Given the description of an element on the screen output the (x, y) to click on. 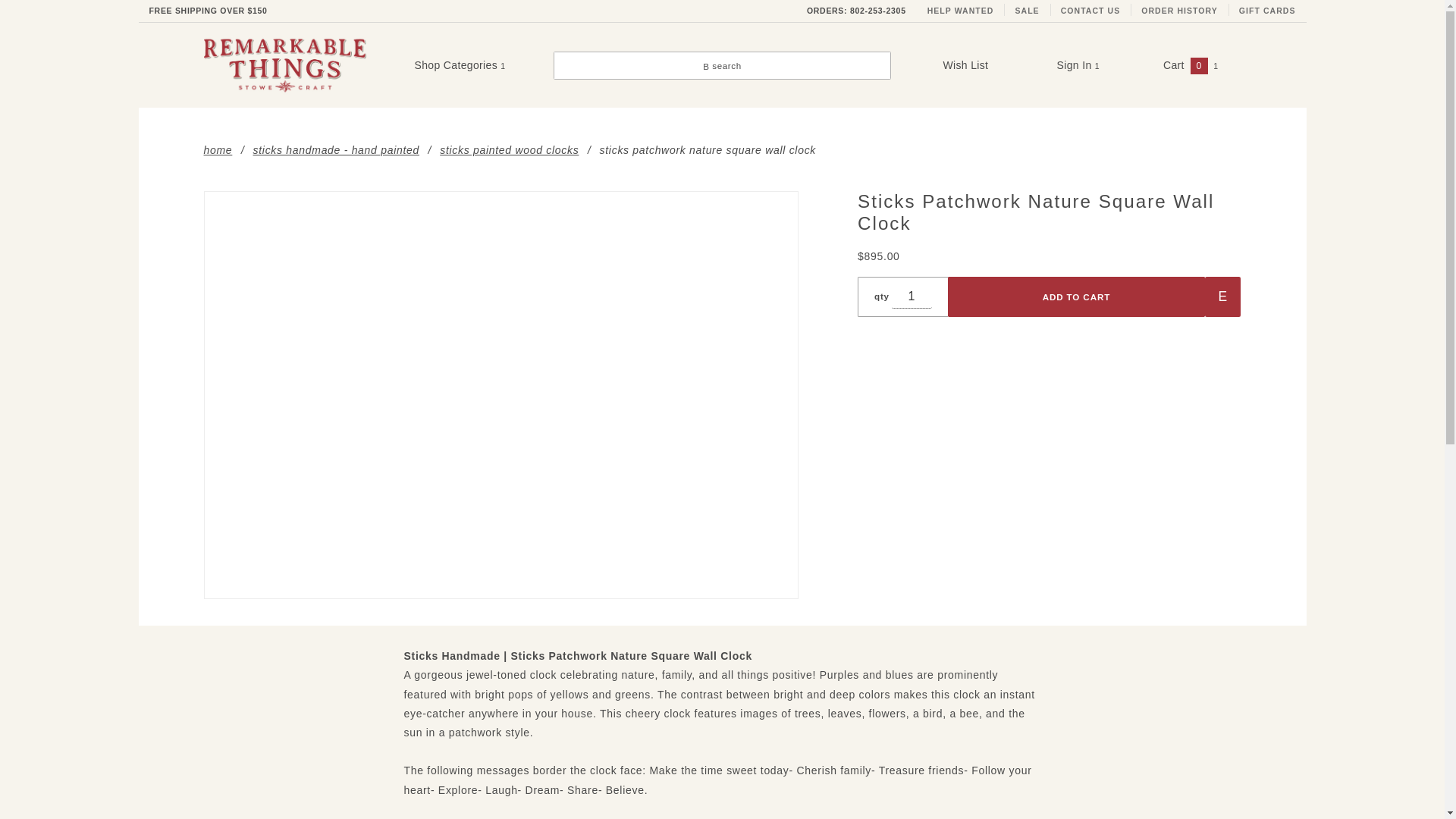
Shop Categories (459, 65)
Home (217, 149)
CONTACT US (1090, 11)
Wish List (965, 64)
Sticks Patchwork Nature Square Wall Clock (500, 394)
ORDERS: 802-253-2305 (856, 11)
HELP WANTED (960, 11)
ORDER HISTORY (1179, 11)
SEARCH (1164, 22)
CLOSE (1168, 12)
